Given the description of an element on the screen output the (x, y) to click on. 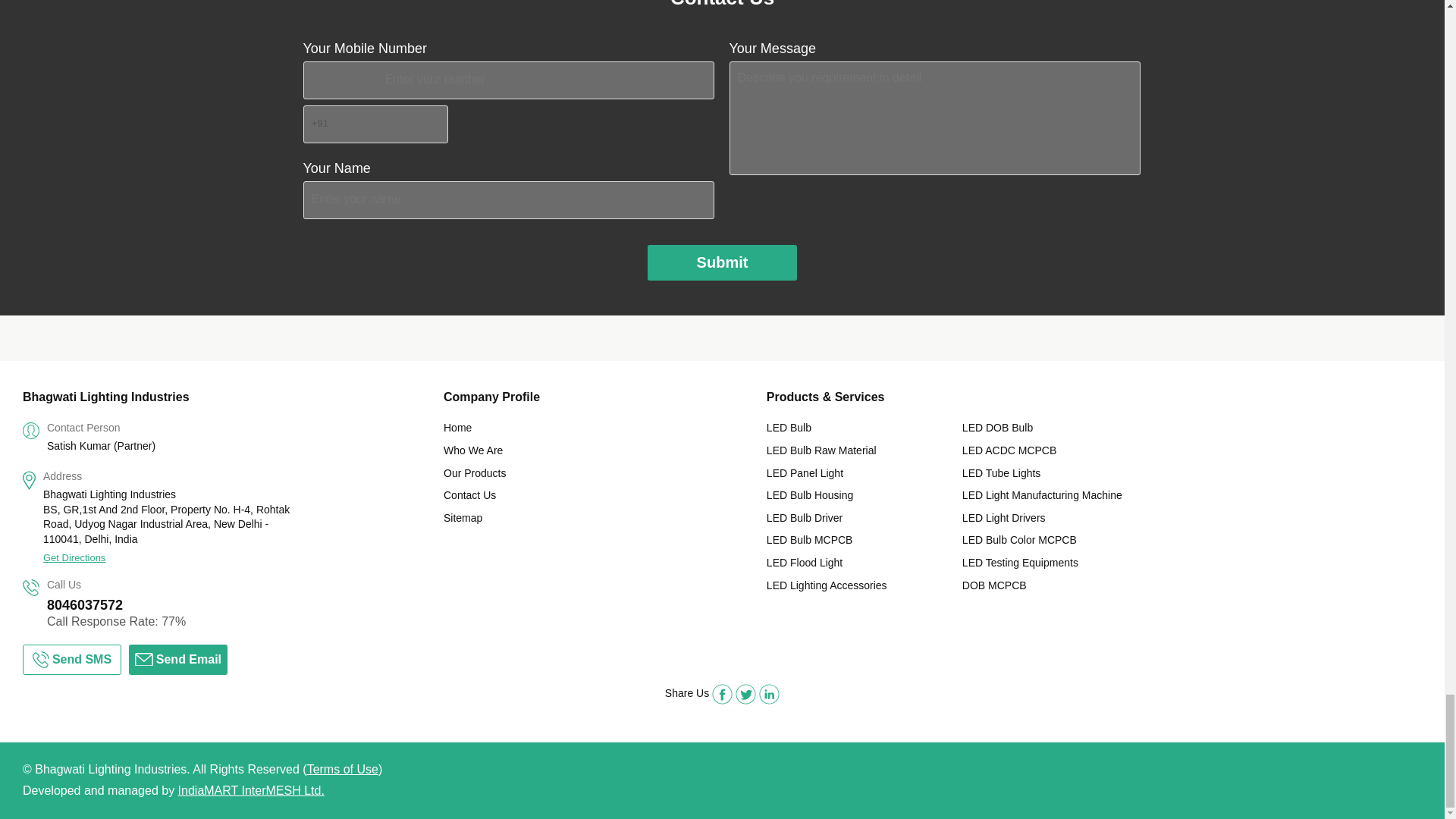
Submit (722, 262)
